Given the description of an element on the screen output the (x, y) to click on. 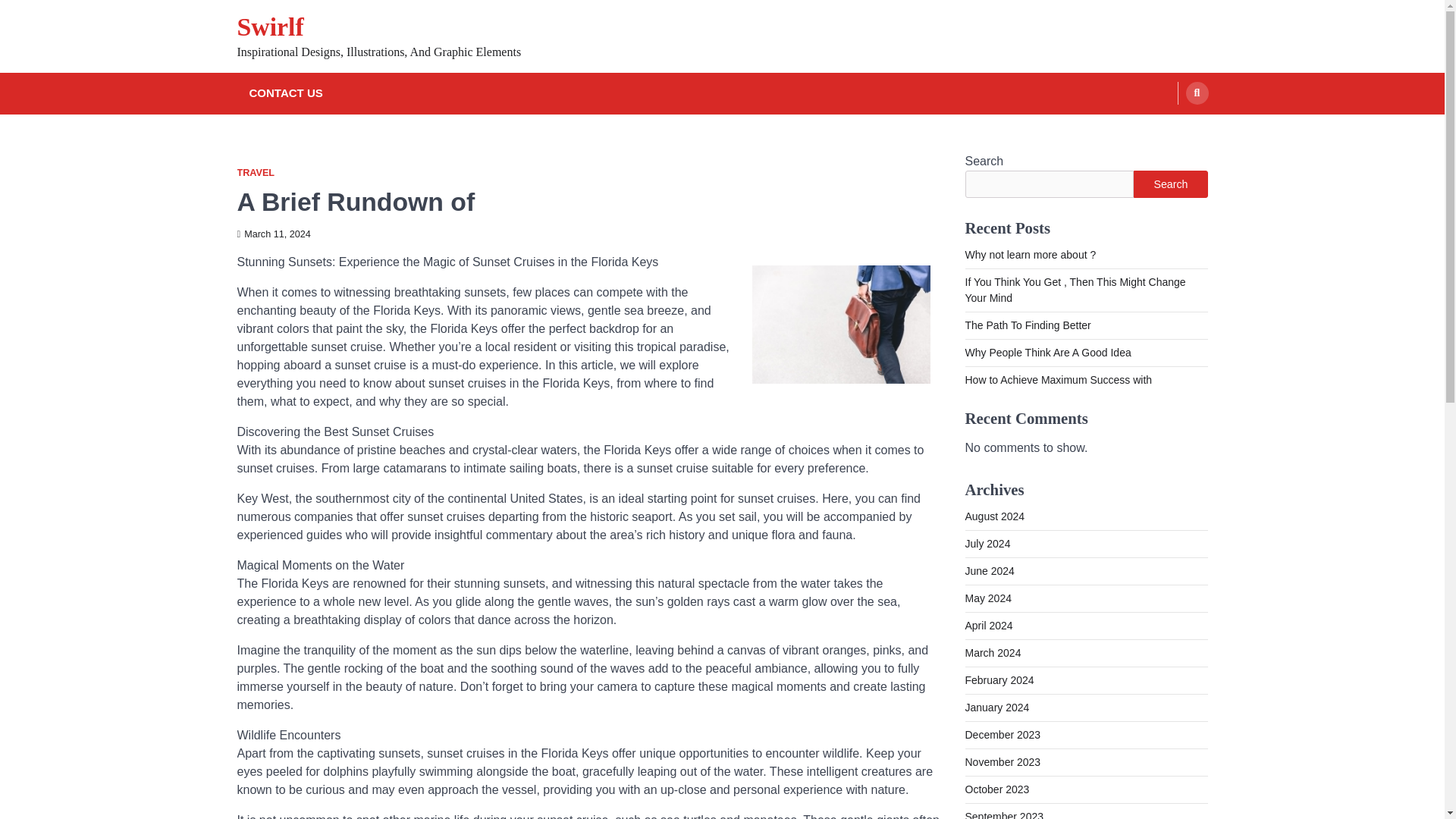
Search (1168, 128)
Why People Think Are A Good Idea (1047, 352)
Why not learn more about ? (1029, 254)
May 2024 (986, 598)
August 2024 (994, 516)
January 2024 (996, 707)
July 2024 (986, 543)
Search (1170, 184)
Search (1197, 92)
Swirlf (268, 26)
